Given the description of an element on the screen output the (x, y) to click on. 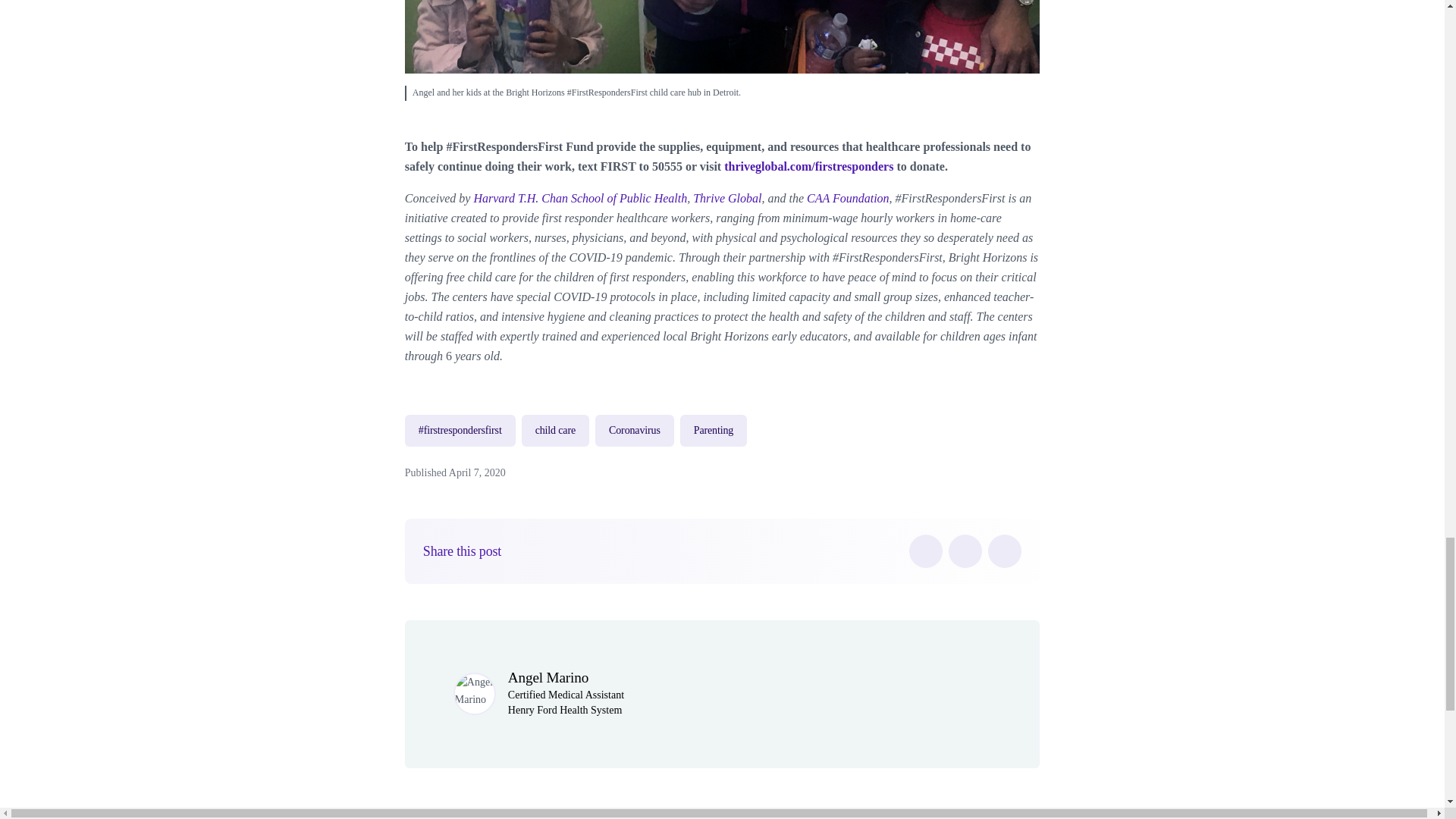
Facebook (925, 551)
Angel Marino (548, 677)
Twitter (965, 551)
LinkedIn (1005, 551)
